Given the description of an element on the screen output the (x, y) to click on. 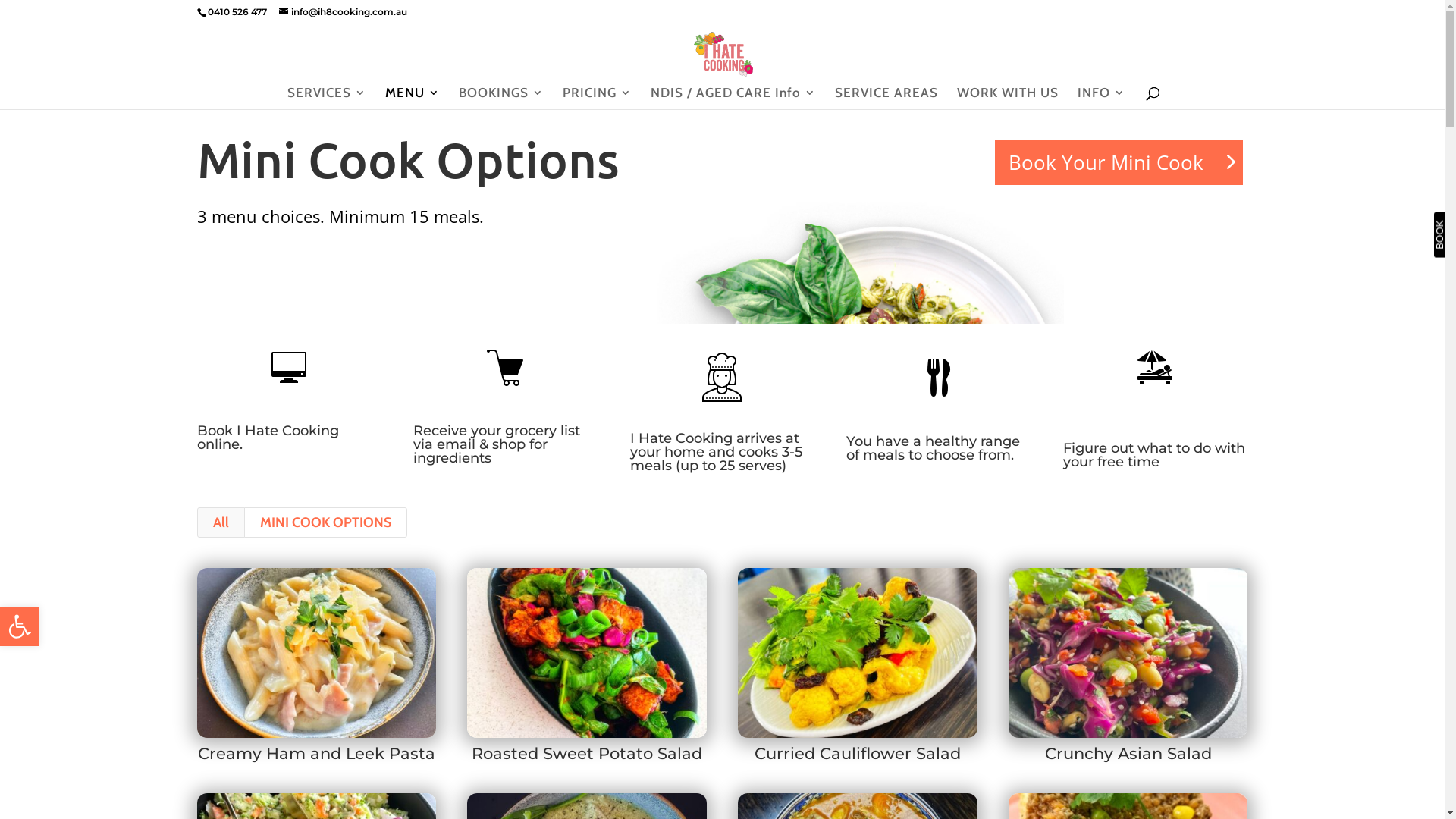
Roasted Sweet Potato Salad Element type: text (586, 752)
Creamy Ham and Leek Pasta Element type: text (316, 752)
INFO Element type: text (1100, 98)
PRICING Element type: text (596, 98)
SERVICES Element type: text (325, 98)
Open toolbar
Accessibility Tools Element type: text (19, 626)
Crunchy Asian Salad Element type: text (1127, 752)
All Element type: text (220, 522)
Book Your Mini Cook Element type: text (1118, 161)
MINI COOK OPTIONS Element type: text (325, 522)
BOOKINGS Element type: text (500, 98)
NDIS / AGED CARE Info Element type: text (732, 98)
Curried Cauliflower Salad Element type: text (857, 752)
WORK WITH US Element type: text (1007, 98)
SERVICE AREAS Element type: text (885, 98)
info@ih8cooking.com.au Element type: text (343, 11)
MENU Element type: text (412, 98)
